Given the description of an element on the screen output the (x, y) to click on. 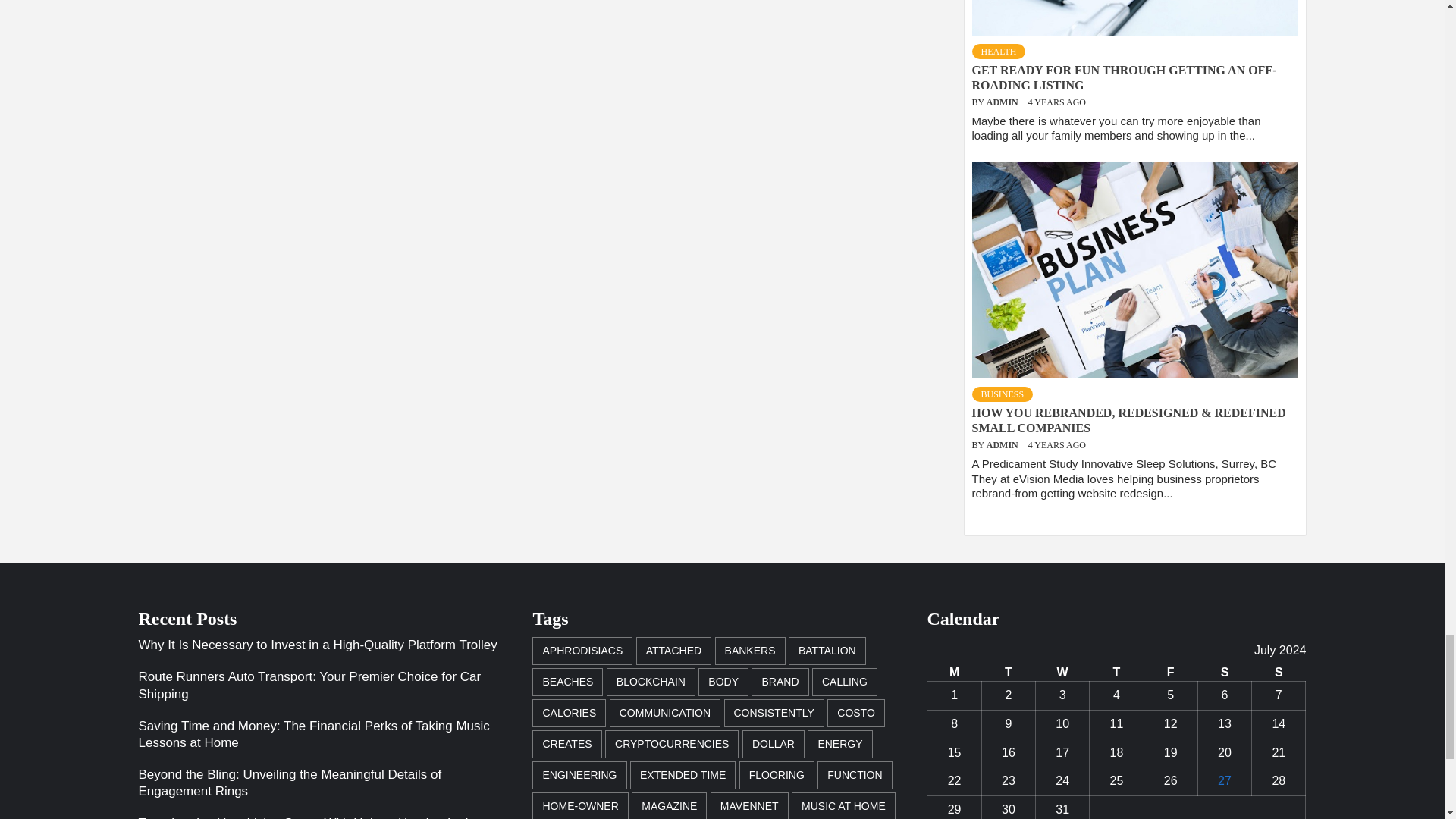
Monday (954, 672)
Friday (1169, 672)
Thursday (1115, 672)
Sunday (1279, 672)
Saturday (1223, 672)
Wednesday (1062, 672)
Tuesday (1008, 672)
